Given the description of an element on the screen output the (x, y) to click on. 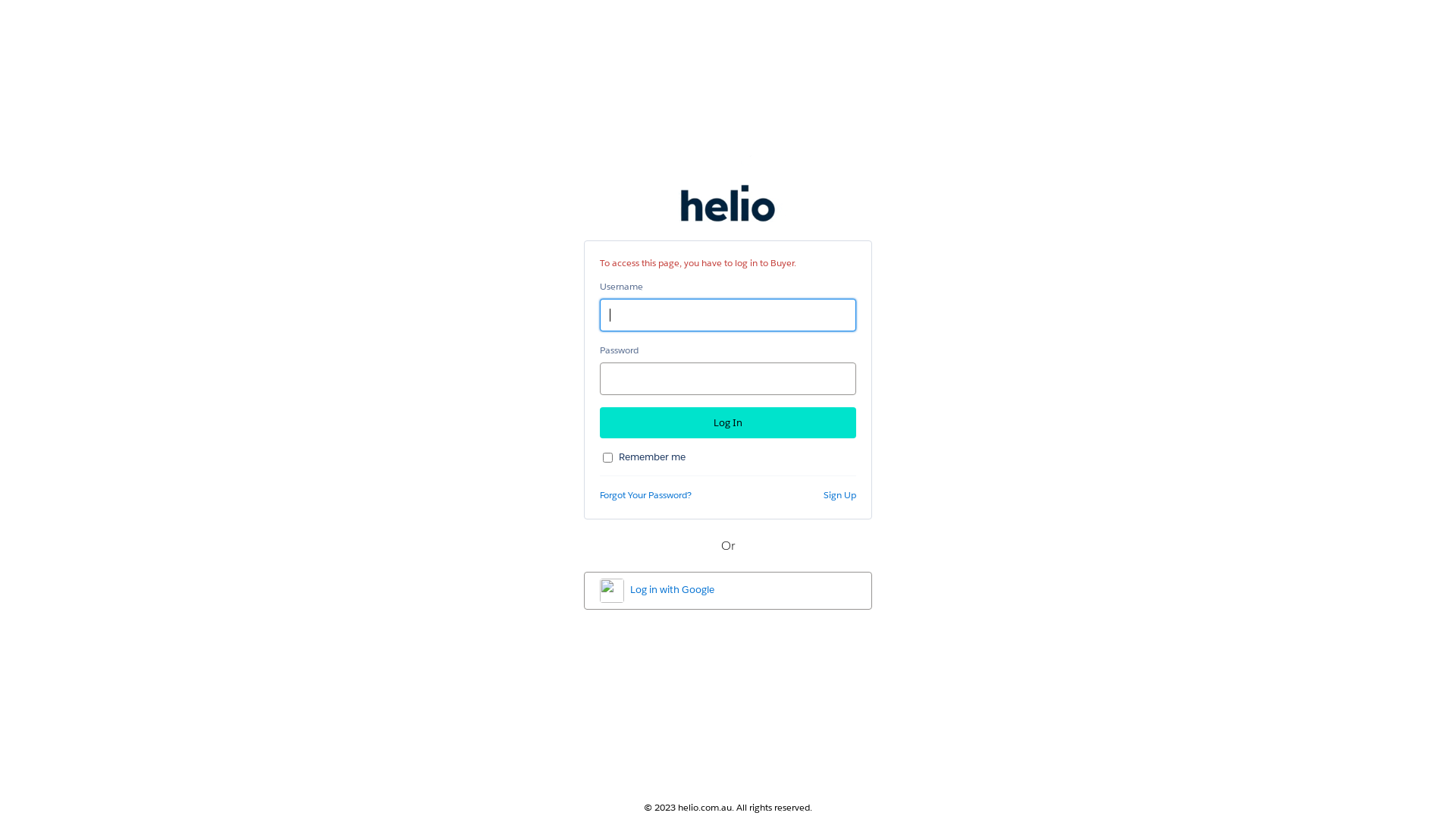
Log In Element type: text (727, 422)
Forgot Your Password? Element type: text (645, 494)
Sign Up Element type: text (839, 494)
Log in with Google Element type: text (727, 590)
